Given the description of an element on the screen output the (x, y) to click on. 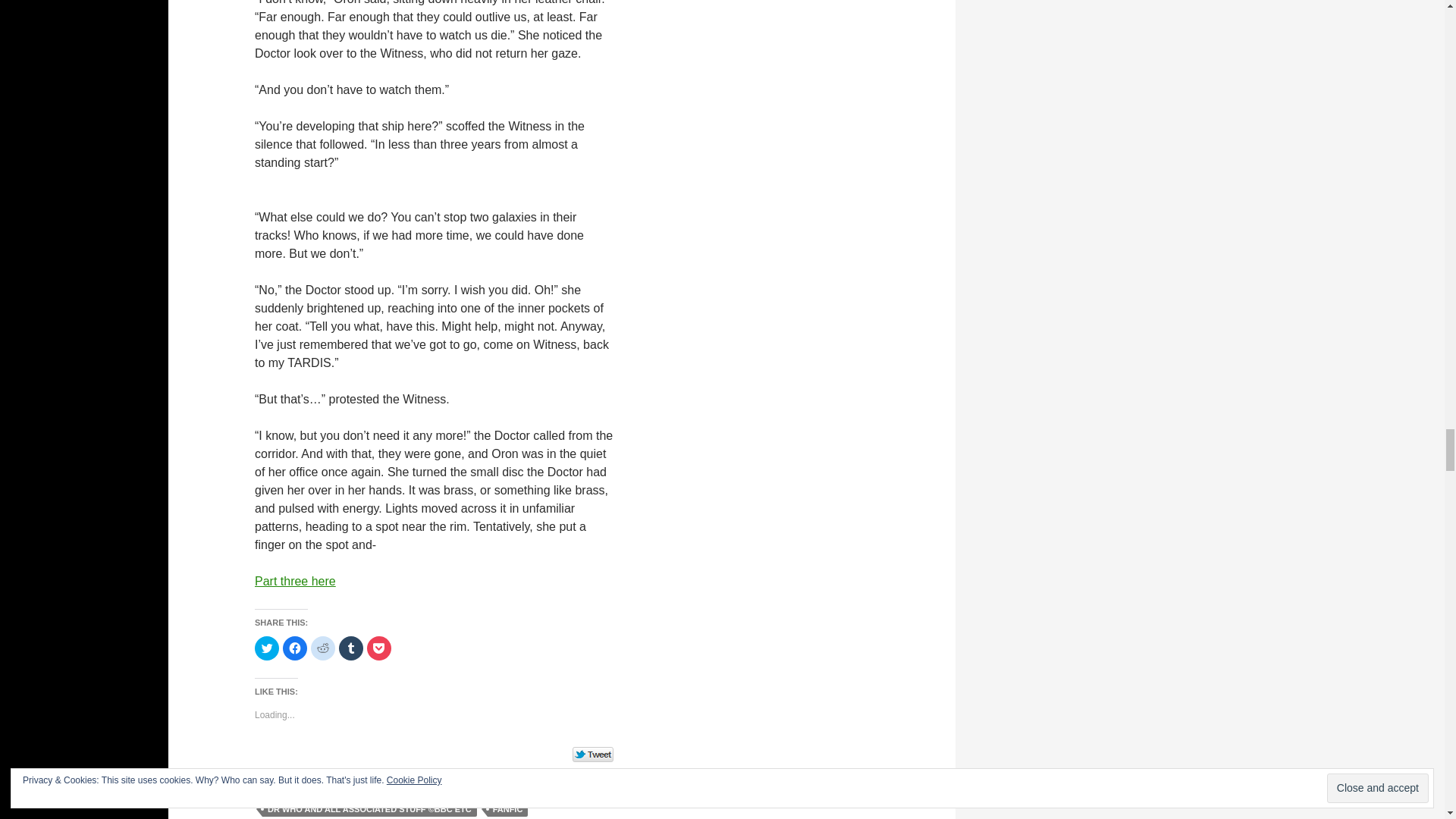
Part three here (295, 581)
Click to share on Facebook (294, 648)
Click to share on Reddit (322, 648)
Click to share on Pocket (378, 648)
Click to share on Tumblr (350, 648)
Click to share on Twitter (266, 648)
